Given the description of an element on the screen output the (x, y) to click on. 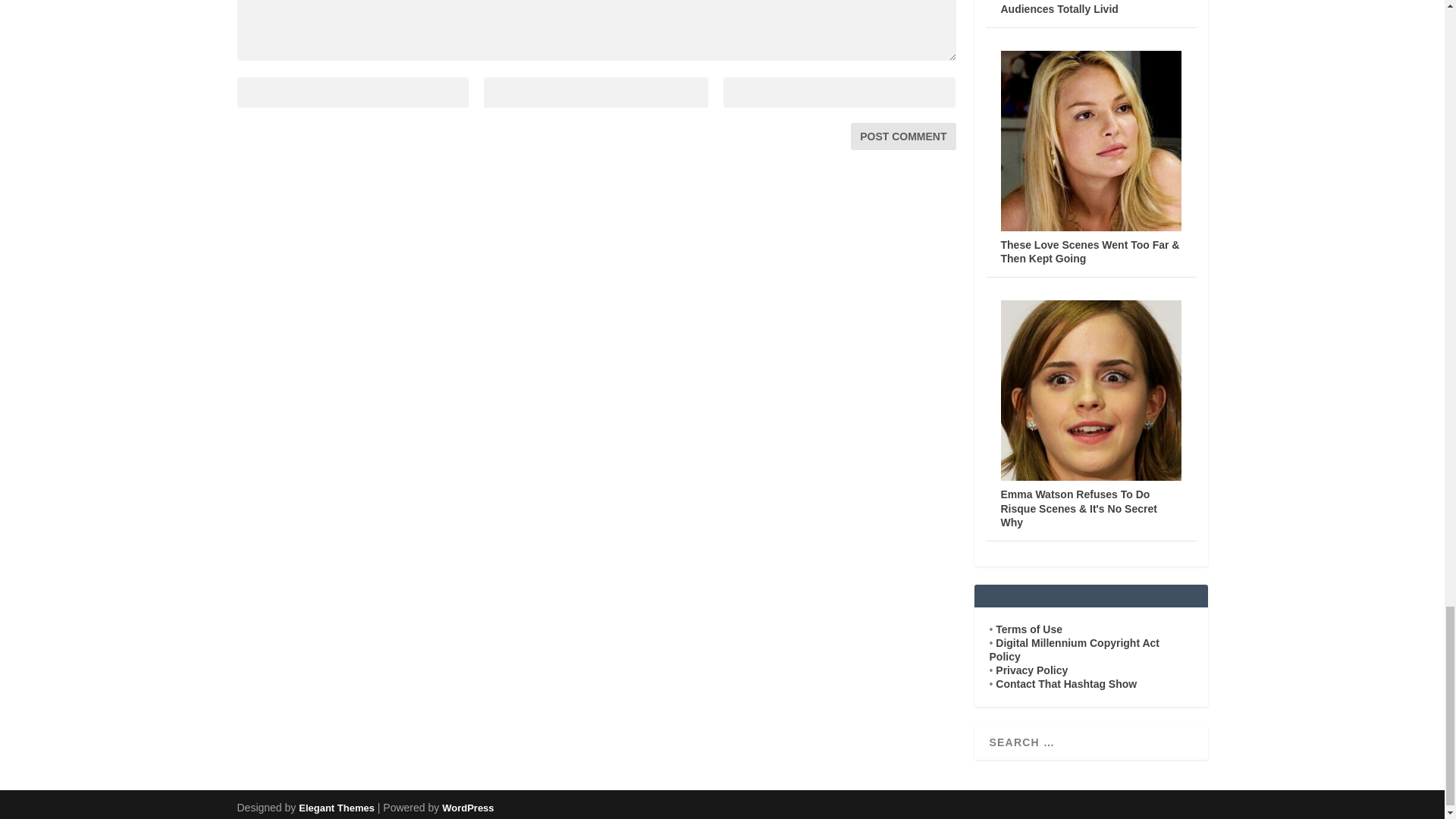
Post Comment (902, 135)
